Given the description of an element on the screen output the (x, y) to click on. 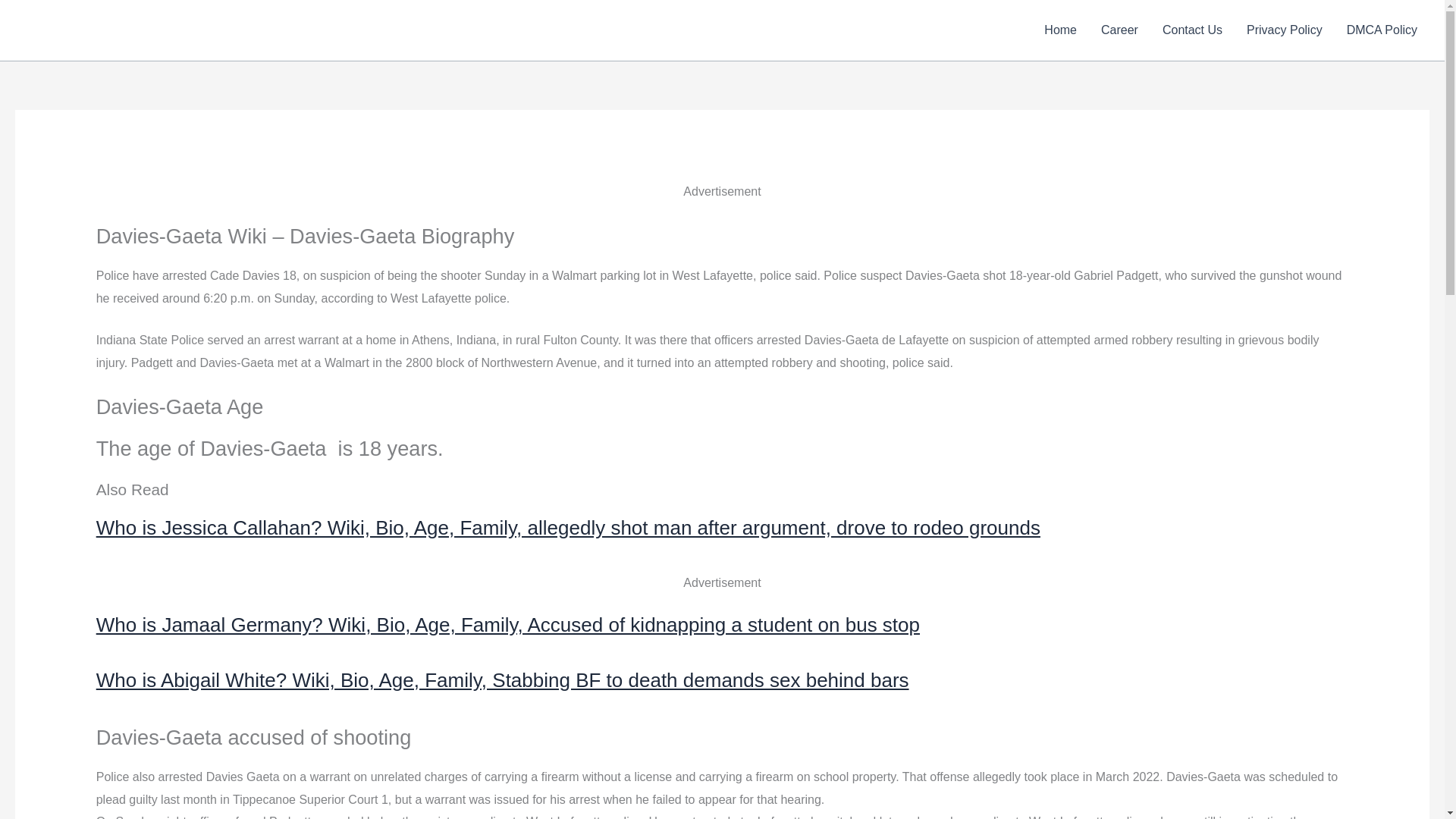
Home (1060, 30)
Privacy Policy (1284, 30)
Contact Us (1192, 30)
DMCA Policy (1382, 30)
Career (1119, 30)
